Given the description of an element on the screen output the (x, y) to click on. 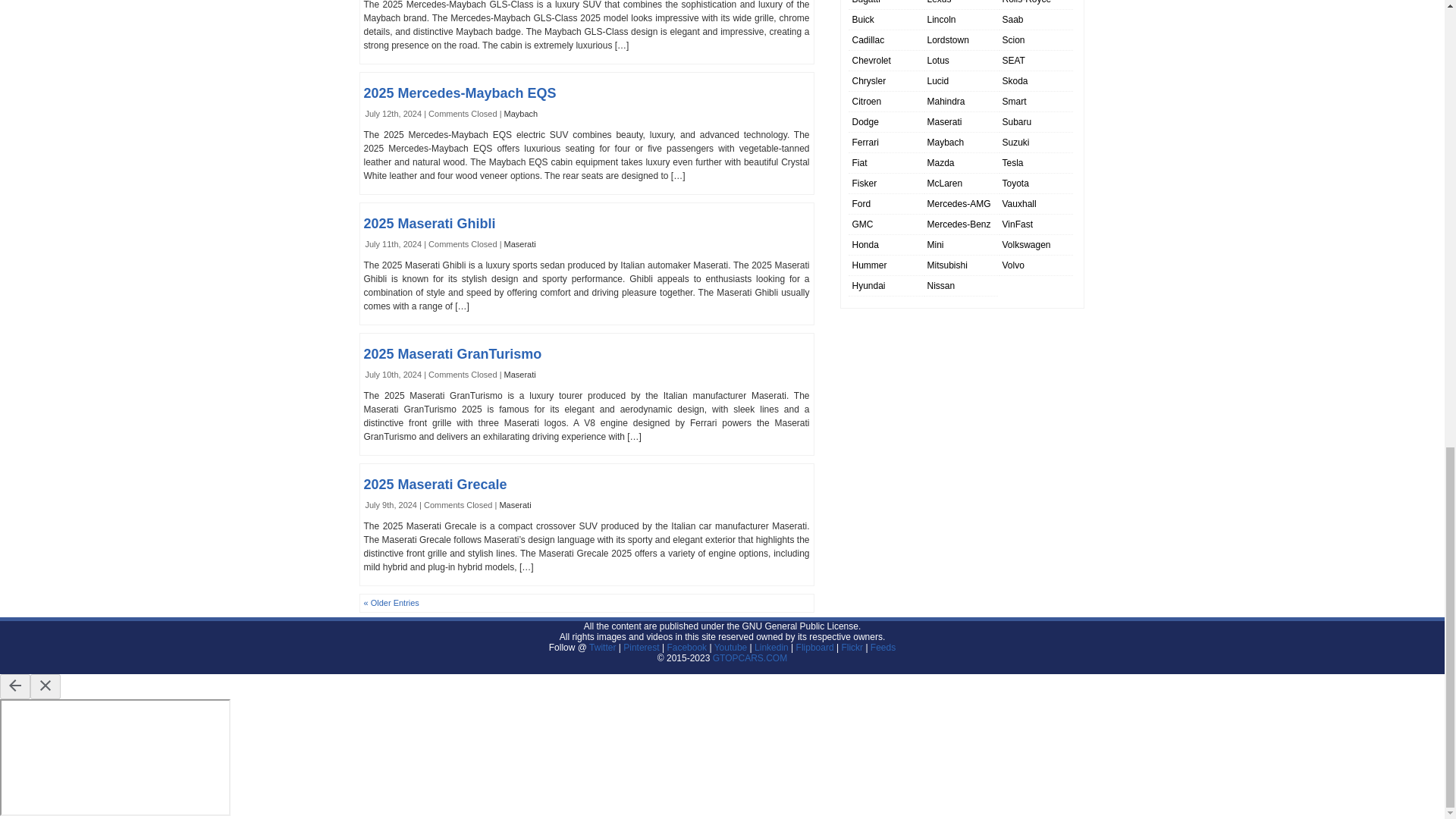
2025 Mercedes-Maybach EQS (460, 92)
Citroen (866, 101)
2025 Mercedes-Maybach EQS (460, 92)
2025 Maserati Grecale (435, 484)
Maserati (515, 504)
Cadillac (868, 40)
2025 Maserati Ghibli (430, 223)
Maserati (519, 243)
Chrysler (868, 81)
Maybach (520, 112)
